Given the description of an element on the screen output the (x, y) to click on. 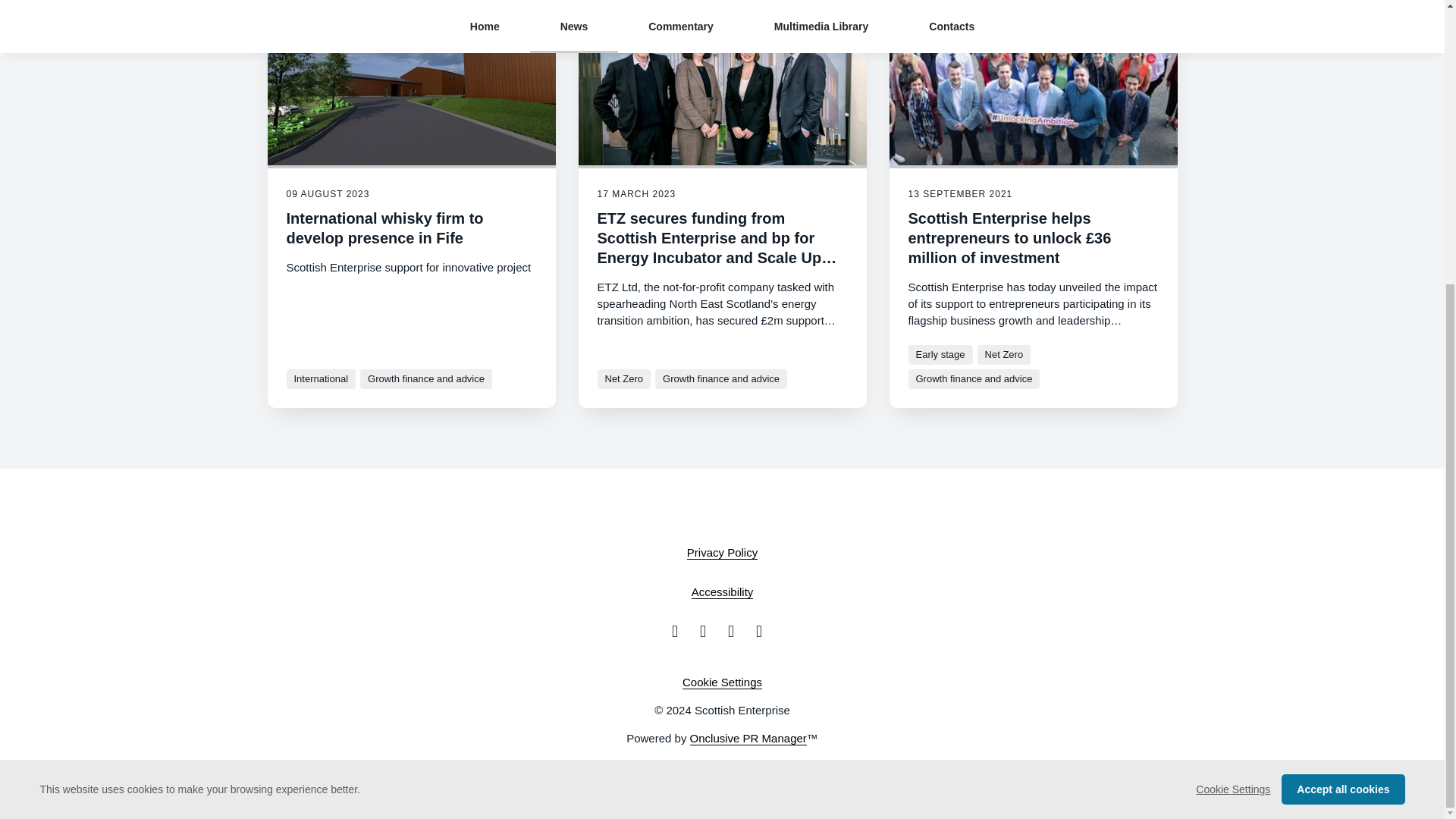
LinkedIn (736, 631)
Accessibility (722, 591)
RSS (764, 631)
Twitter (708, 631)
Cookie Settings (1232, 361)
Accessibility (722, 591)
International whisky firm to develop presence in Fife (384, 227)
Privacy Policy (722, 552)
Growth finance and advice (974, 379)
Facebook (679, 631)
Growth finance and advice (721, 379)
Growth finance and advice (425, 379)
International (321, 379)
Onclusive PR Manager (748, 738)
